Given the description of an element on the screen output the (x, y) to click on. 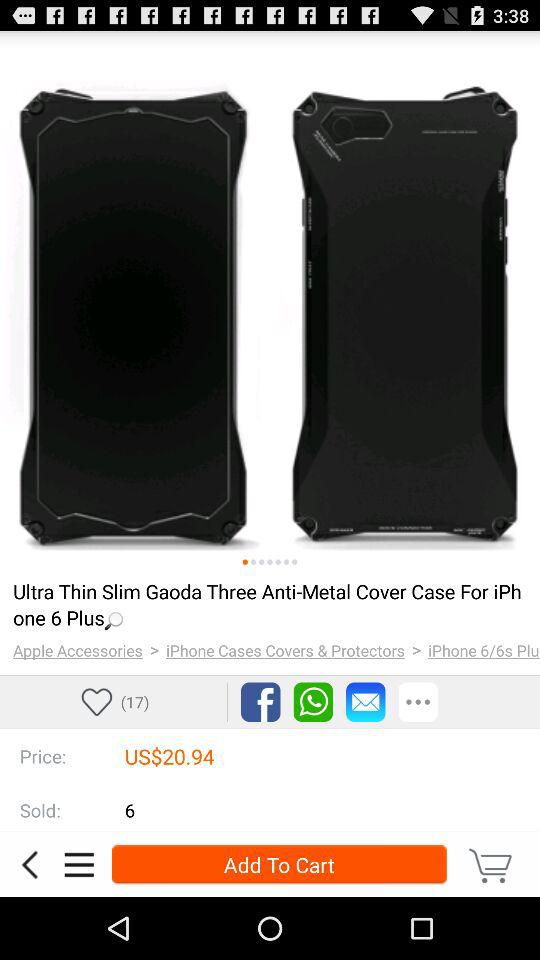
displays the last image in a series (294, 561)
